Given the description of an element on the screen output the (x, y) to click on. 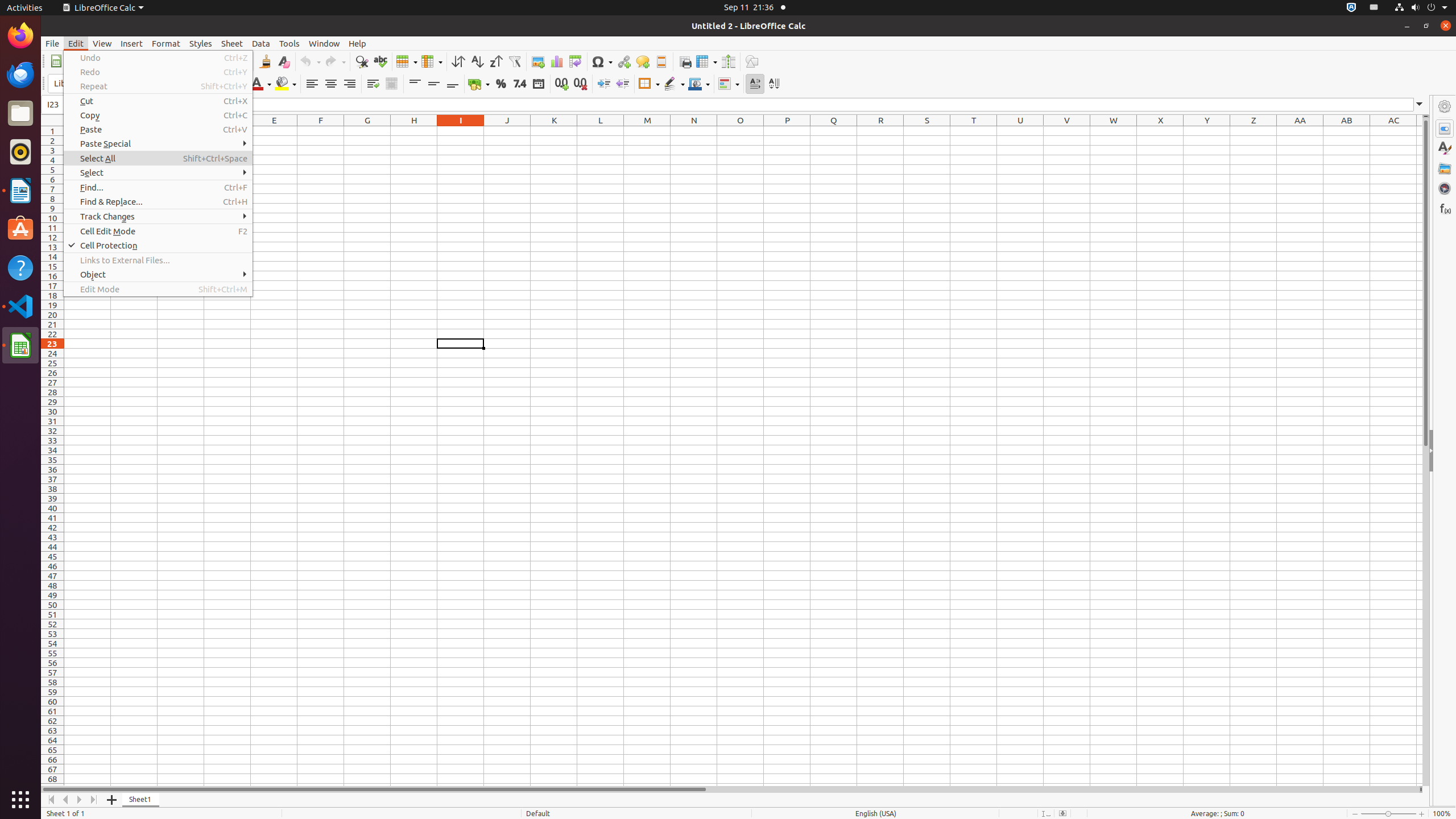
H1 Element type: table-cell (413, 130)
Image Element type: push-button (537, 61)
Add Decimal Place Element type: push-button (561, 83)
Vertical scroll bar Element type: scroll-bar (1425, 451)
Background Color Element type: push-button (285, 83)
